Given the description of an element on the screen output the (x, y) to click on. 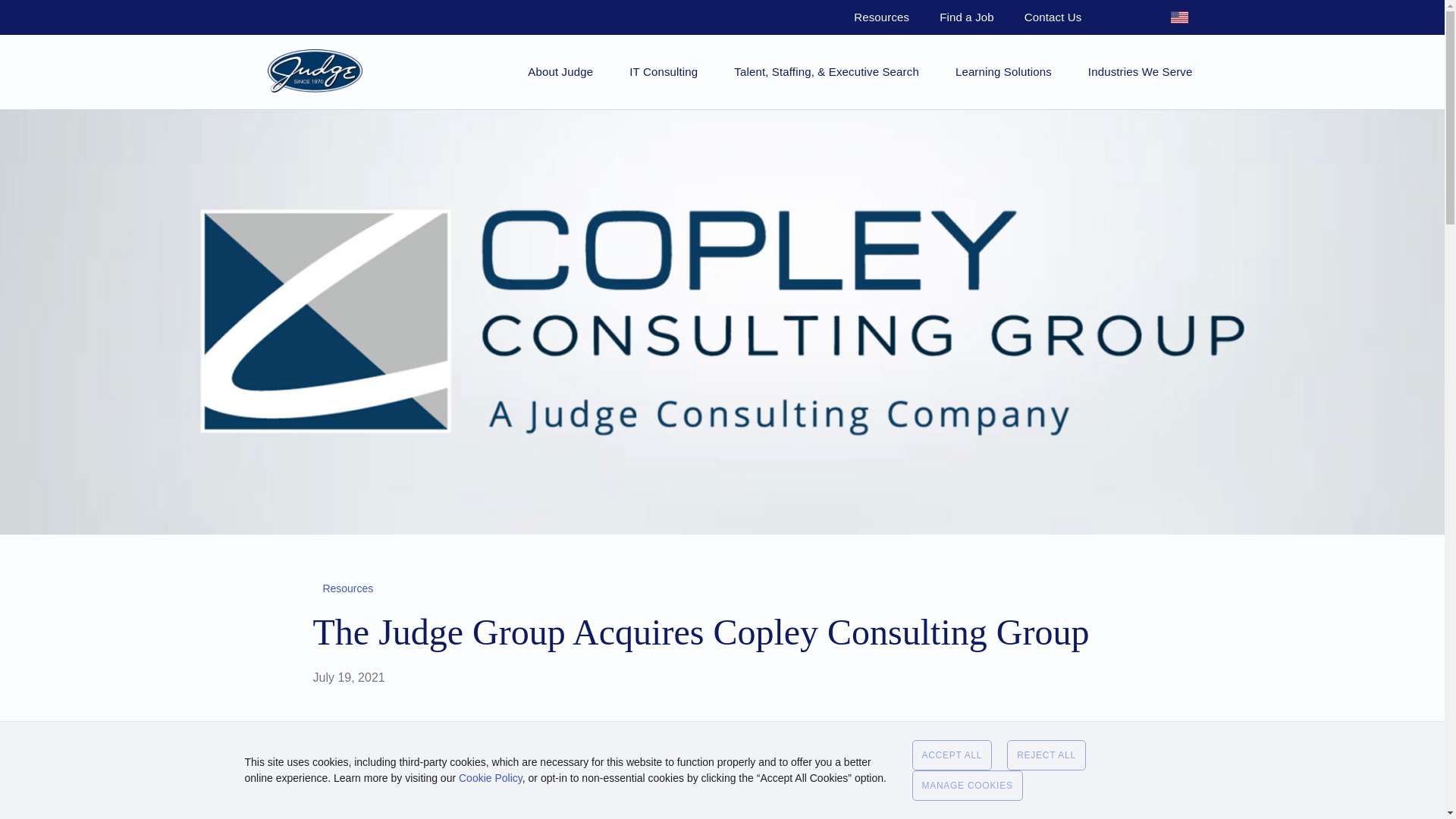
MANAGE COOKIES (966, 785)
SEARCH (1124, 16)
ACCEPT ALL (951, 755)
About Judge (559, 71)
Resources (343, 588)
Resources (881, 17)
Find a Job (966, 17)
Contact Us (1053, 17)
REJECT ALL (1046, 755)
